Given the description of an element on the screen output the (x, y) to click on. 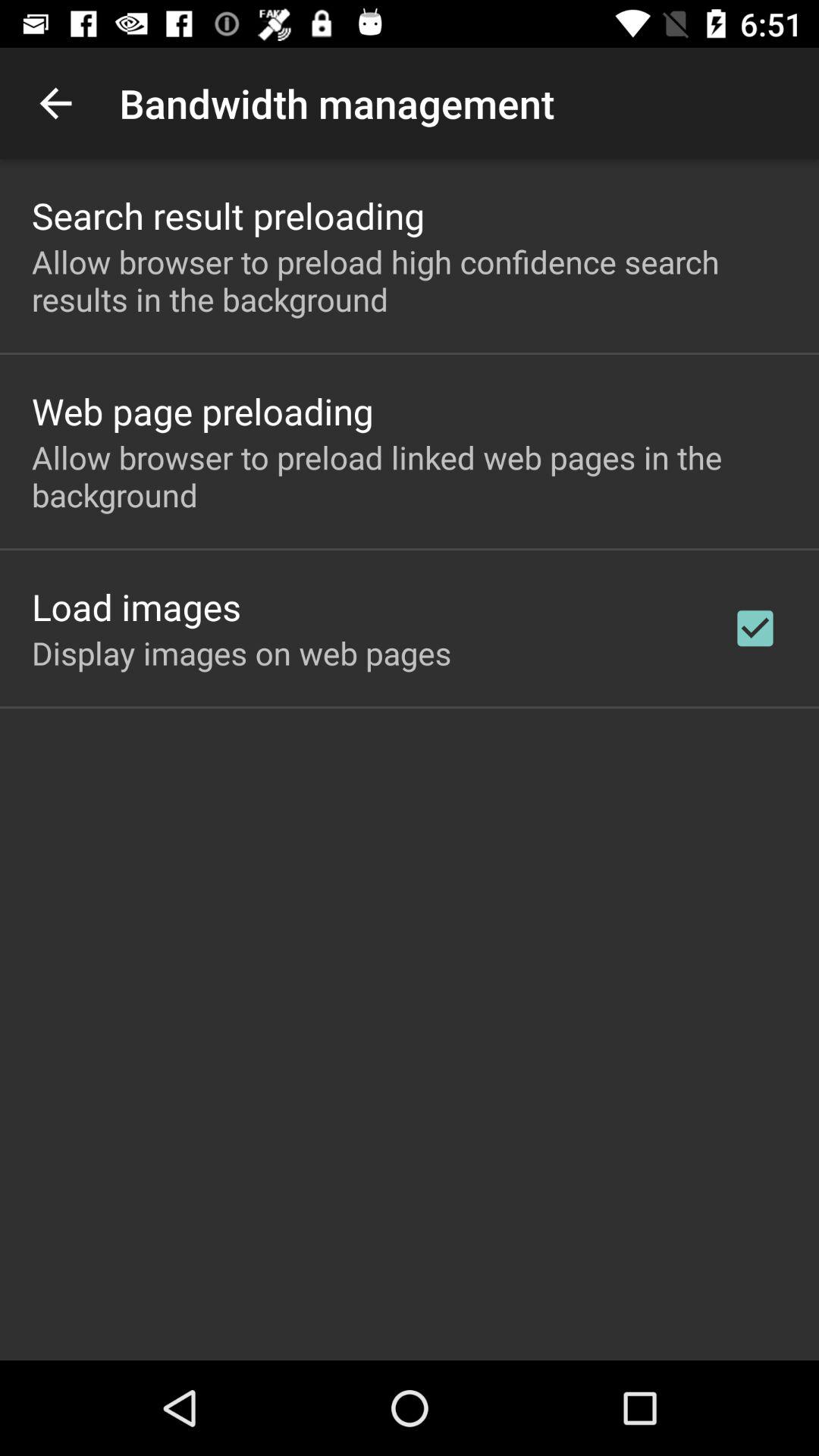
choose app to the right of the display images on app (755, 628)
